Given the description of an element on the screen output the (x, y) to click on. 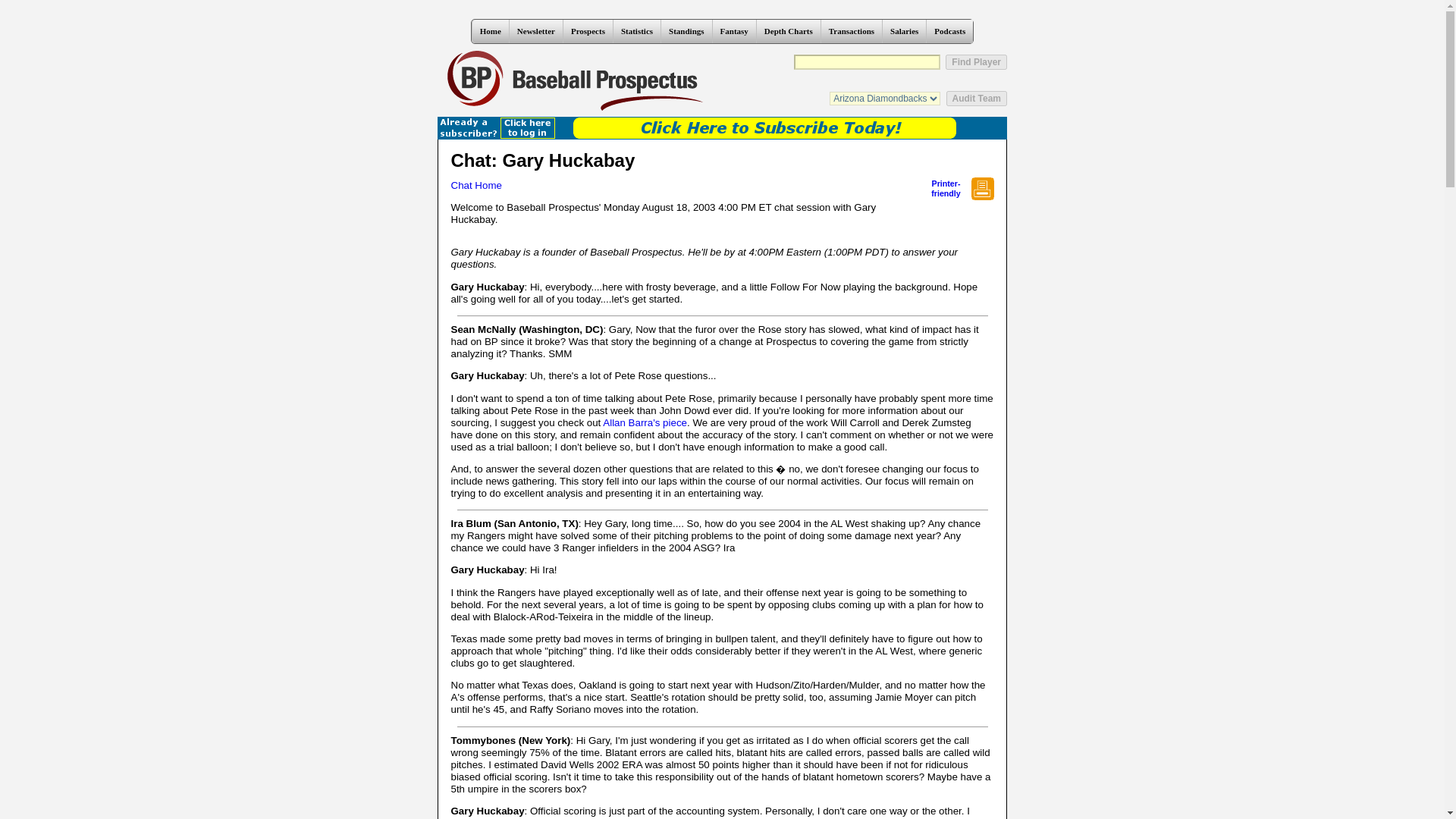
Home (489, 31)
Find Player (975, 61)
Depth Charts (788, 31)
Audit Team (976, 98)
Fantasy (733, 31)
Prospects (587, 31)
Statistics (636, 31)
Baseball Prospectus home (574, 80)
Standings (686, 31)
Newsletter (535, 31)
